Given the description of an element on the screen output the (x, y) to click on. 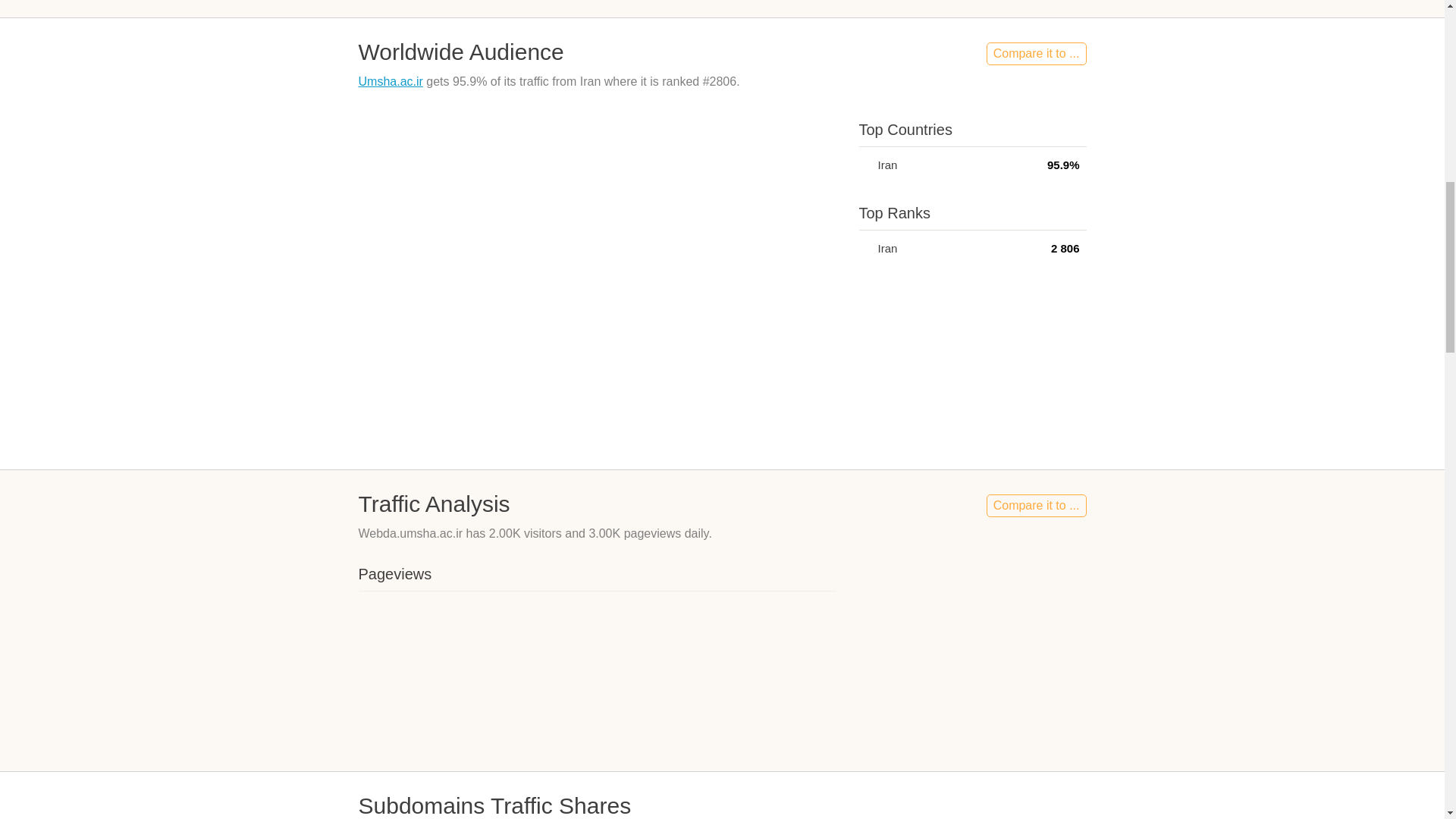
Iran (864, 248)
Iran (864, 164)
Umsha.ac.ir (390, 81)
Compare it to ... (1036, 53)
Compare it to ... (1036, 505)
